Given the description of an element on the screen output the (x, y) to click on. 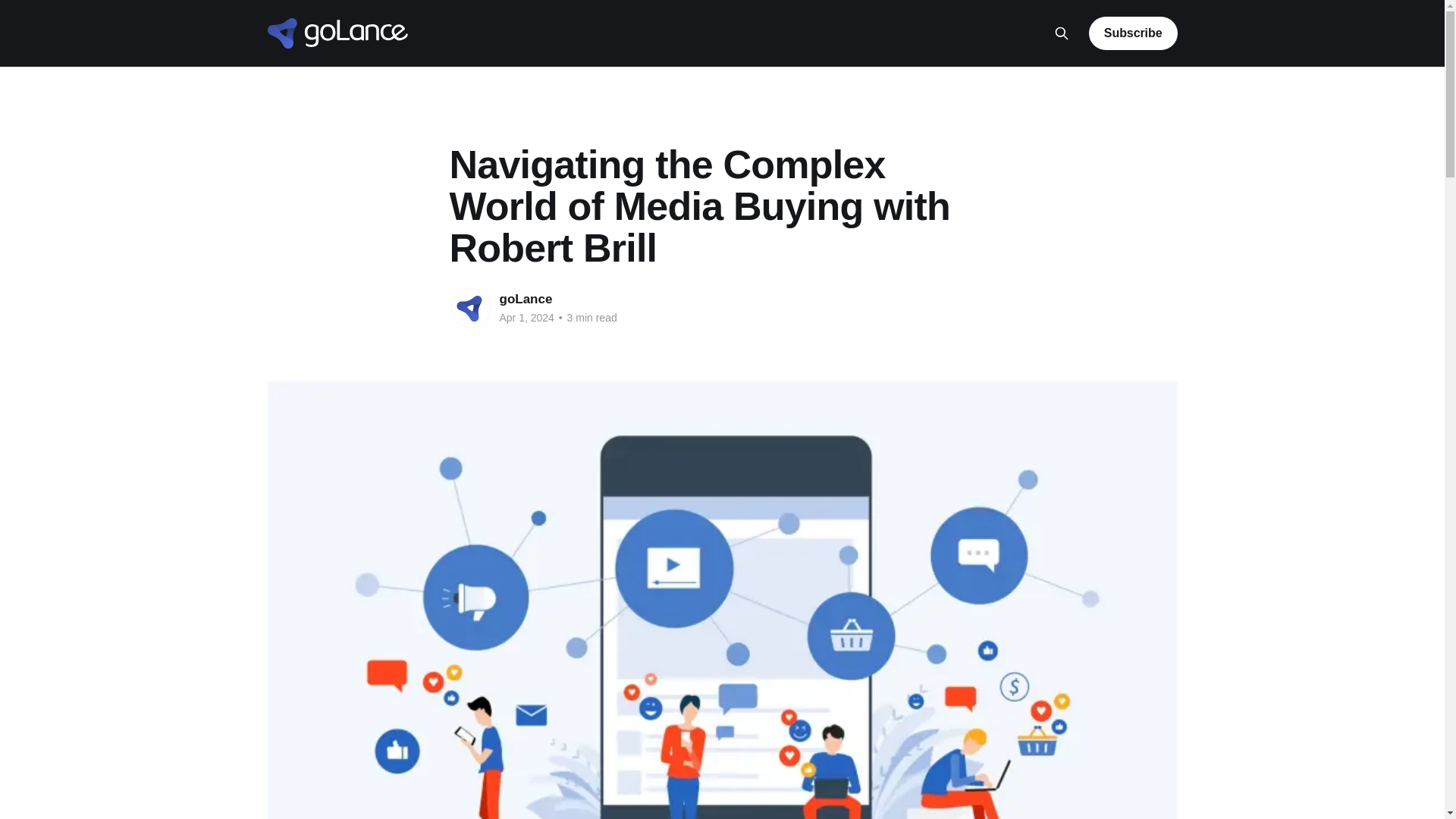
goLance (525, 298)
Subscribe (1133, 32)
